Given the description of an element on the screen output the (x, y) to click on. 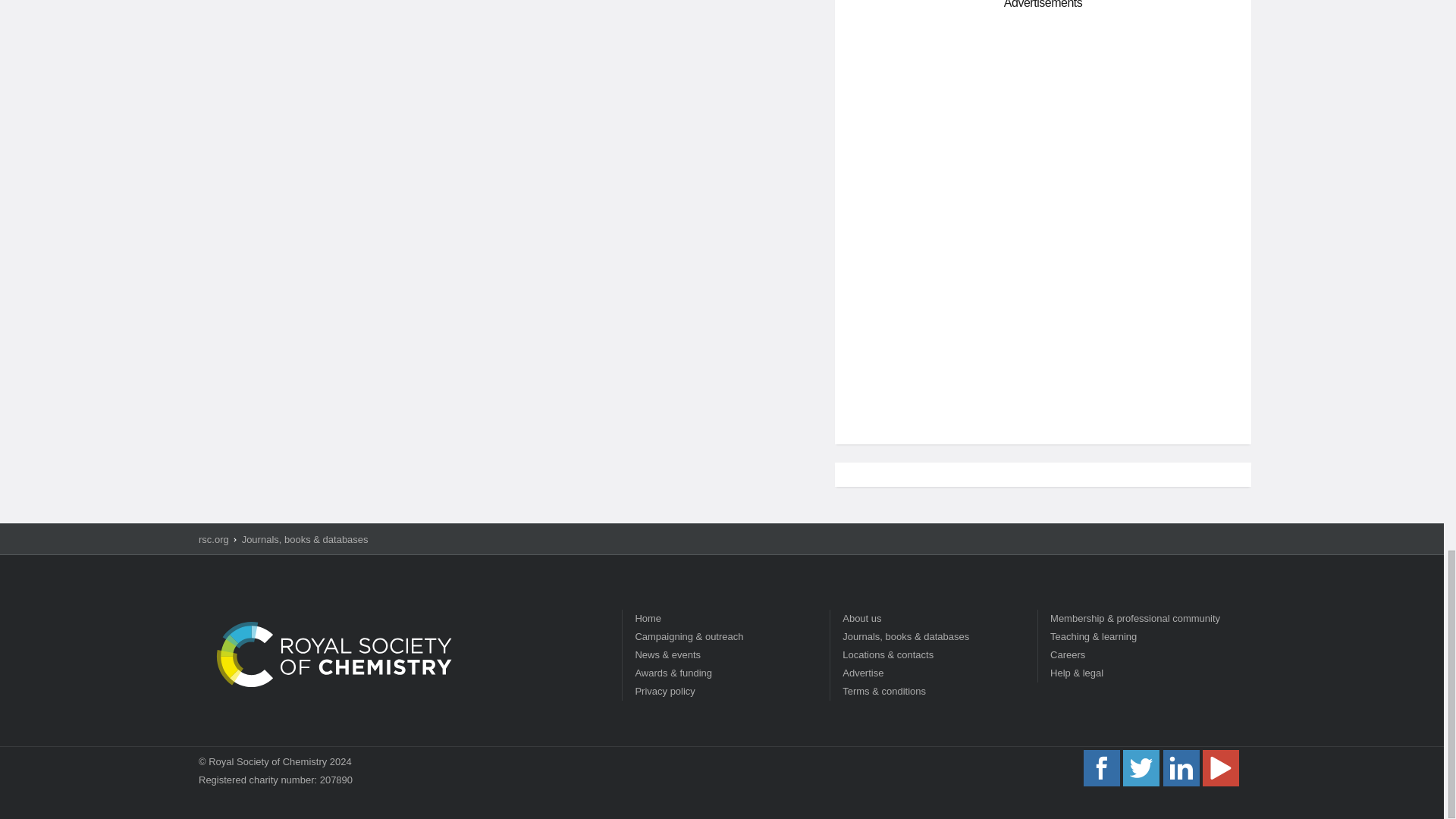
3rd party ad content (1043, 325)
3rd party ad content (1043, 123)
